Given the description of an element on the screen output the (x, y) to click on. 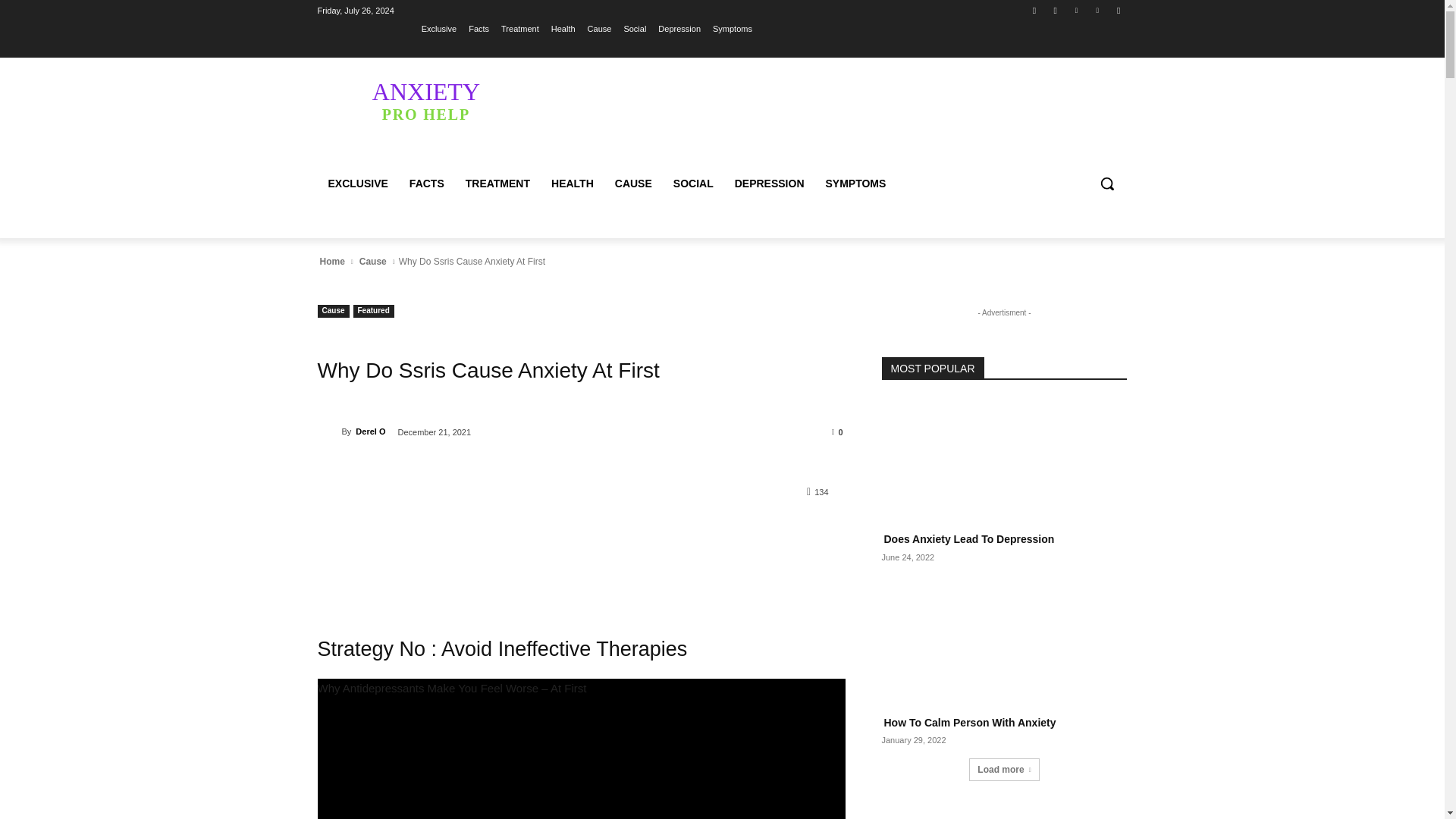
Derel O (328, 431)
Depression (679, 28)
Social (634, 28)
CAUSE (633, 183)
SOCIAL (692, 183)
View all posts in Cause (372, 261)
Health (563, 28)
FACTS (426, 183)
Facts (478, 28)
HEALTH (572, 183)
Youtube (1117, 9)
Instagram (425, 100)
Cause (1055, 9)
Vimeo (599, 28)
